Given the description of an element on the screen output the (x, y) to click on. 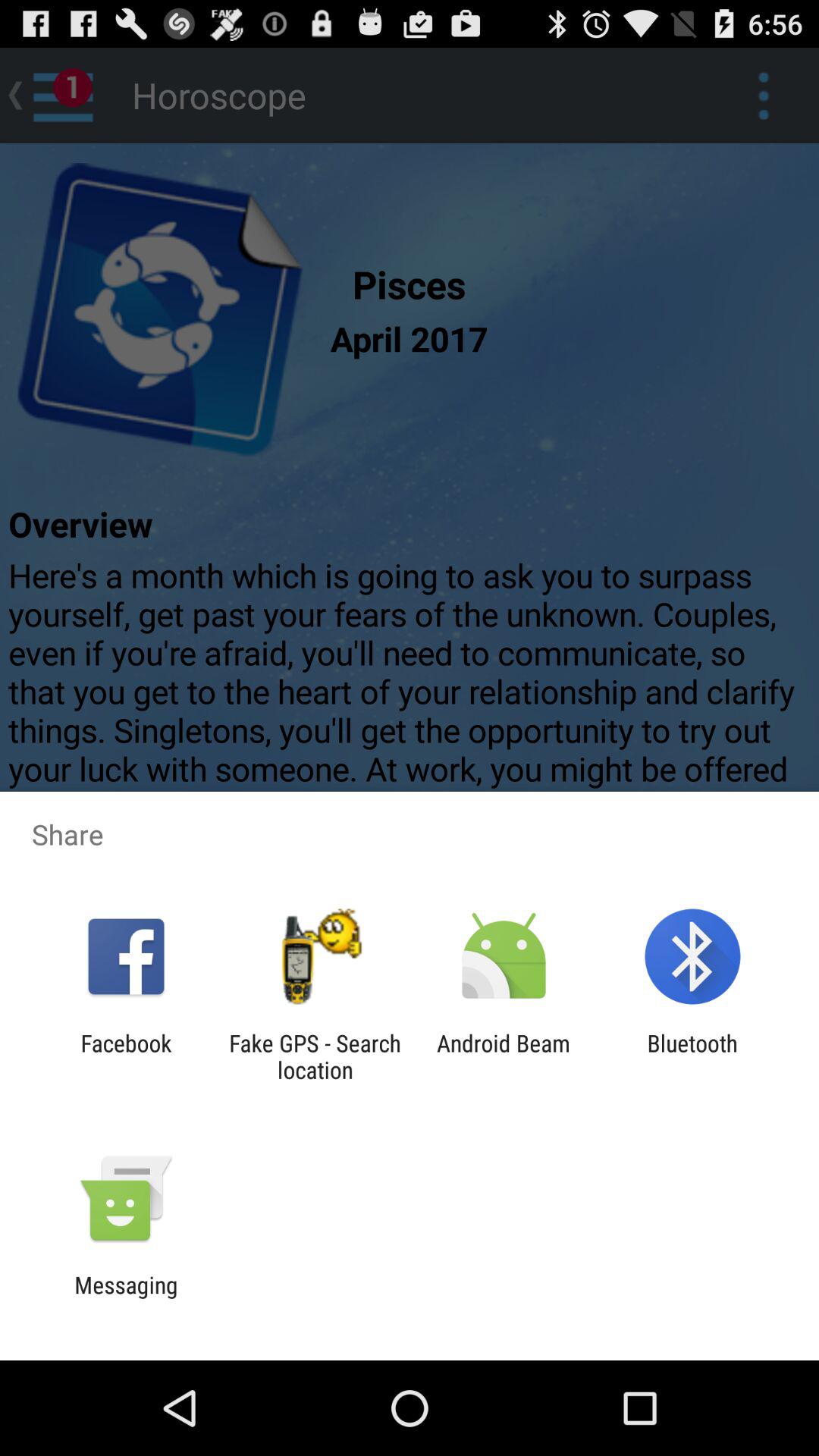
launch item next to the fake gps search item (503, 1056)
